Given the description of an element on the screen output the (x, y) to click on. 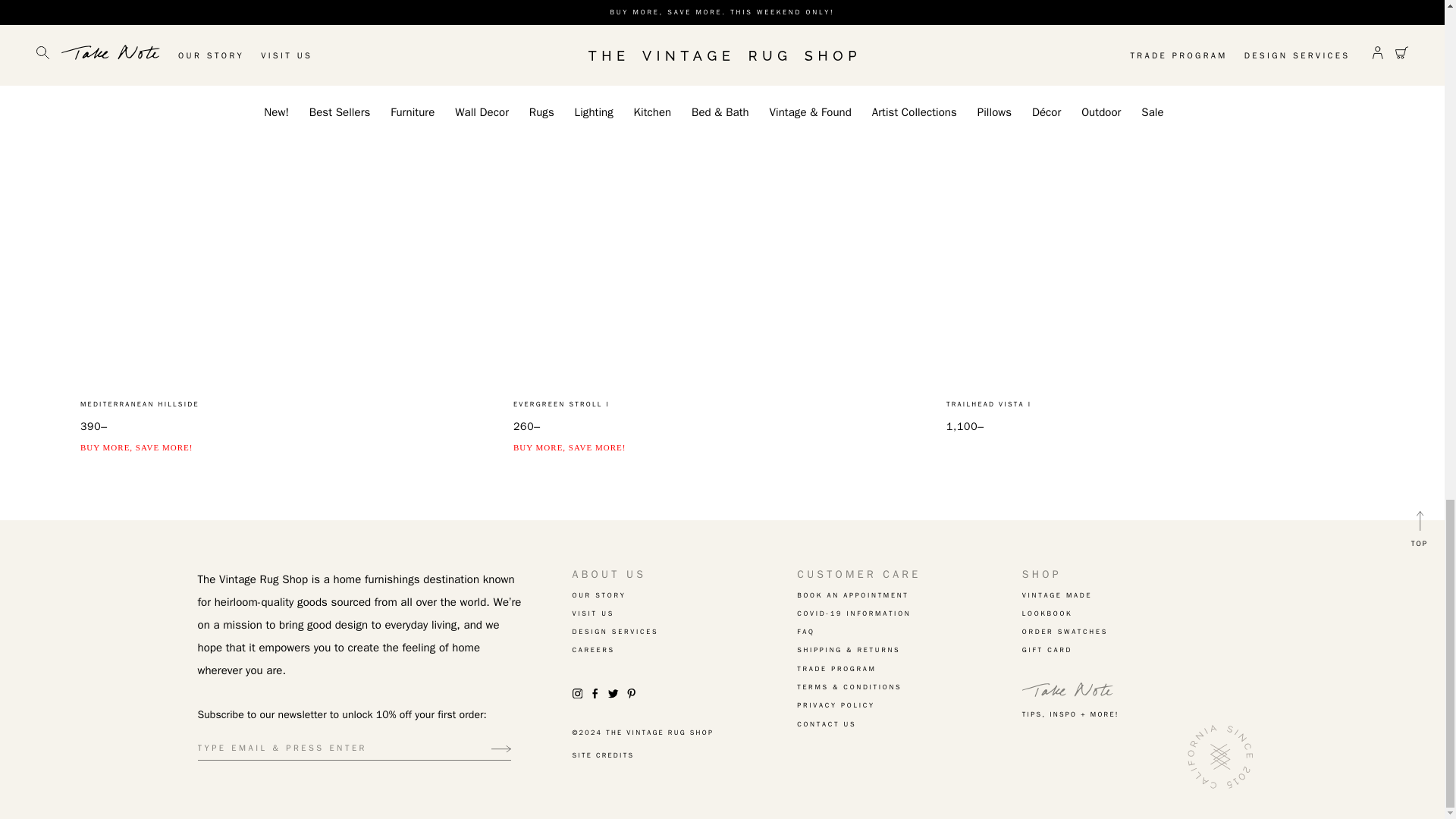
Order Swatches (1134, 632)
Privacy Policy (909, 705)
Lookbook (1134, 613)
FAQ (909, 632)
Trade Program (909, 669)
Careers (684, 650)
Book an Appointment (909, 595)
Design Services (684, 632)
Covid-19 Information (909, 613)
Our Story (684, 595)
